Given the description of an element on the screen output the (x, y) to click on. 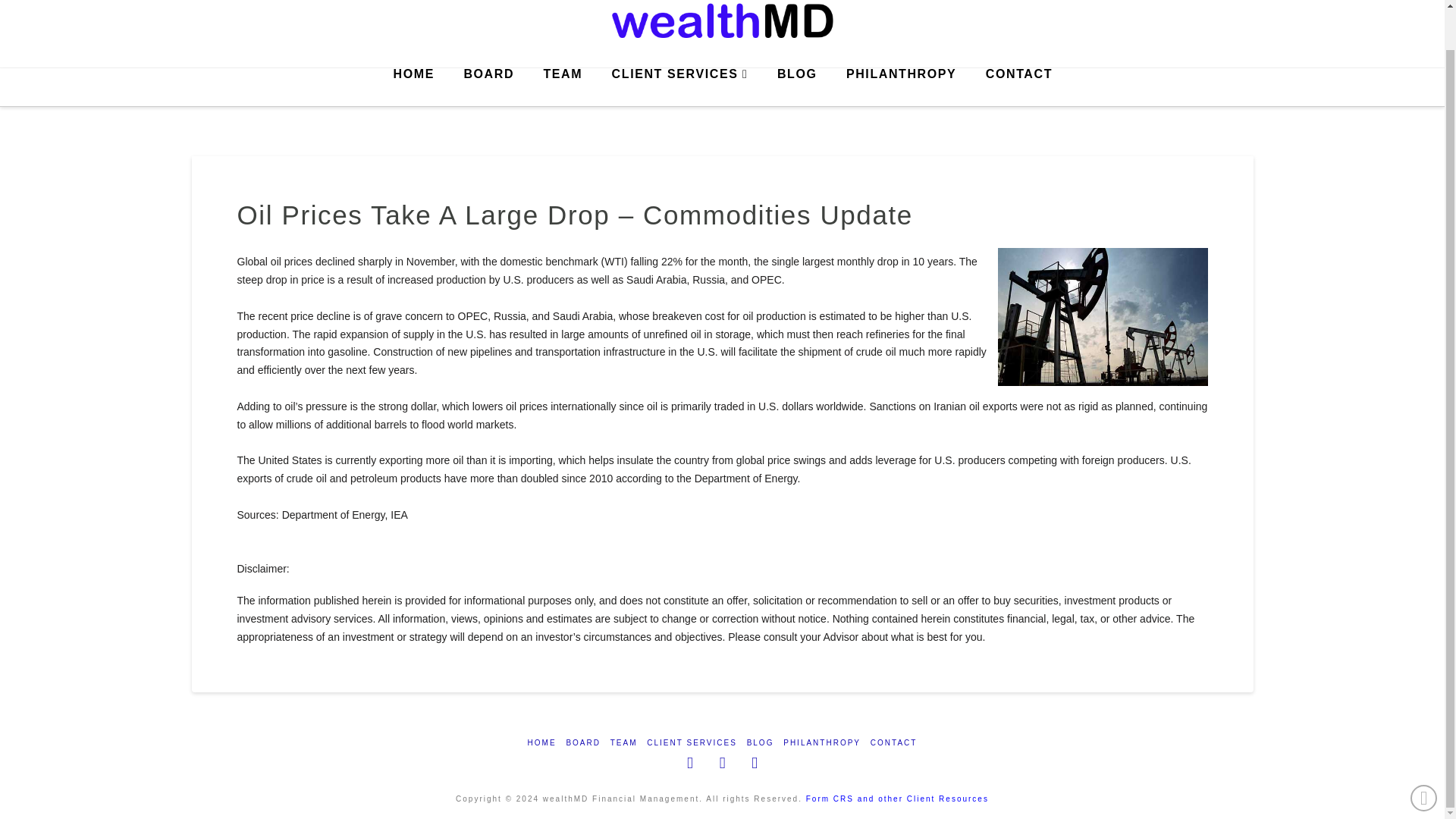
TEAM (623, 742)
HOME (541, 742)
PHILANTHROPY (821, 742)
HOME (413, 86)
BOARD (582, 742)
Form CRS and other Client Resources (897, 798)
BOARD (487, 86)
Back to Top (1423, 755)
BLOG (796, 86)
CONTACT (1019, 86)
PHILANTHROPY (901, 86)
TEAM (561, 86)
CLIENT SERVICES (678, 86)
CLIENT SERVICES (691, 742)
CONTACT (893, 742)
